Given the description of an element on the screen output the (x, y) to click on. 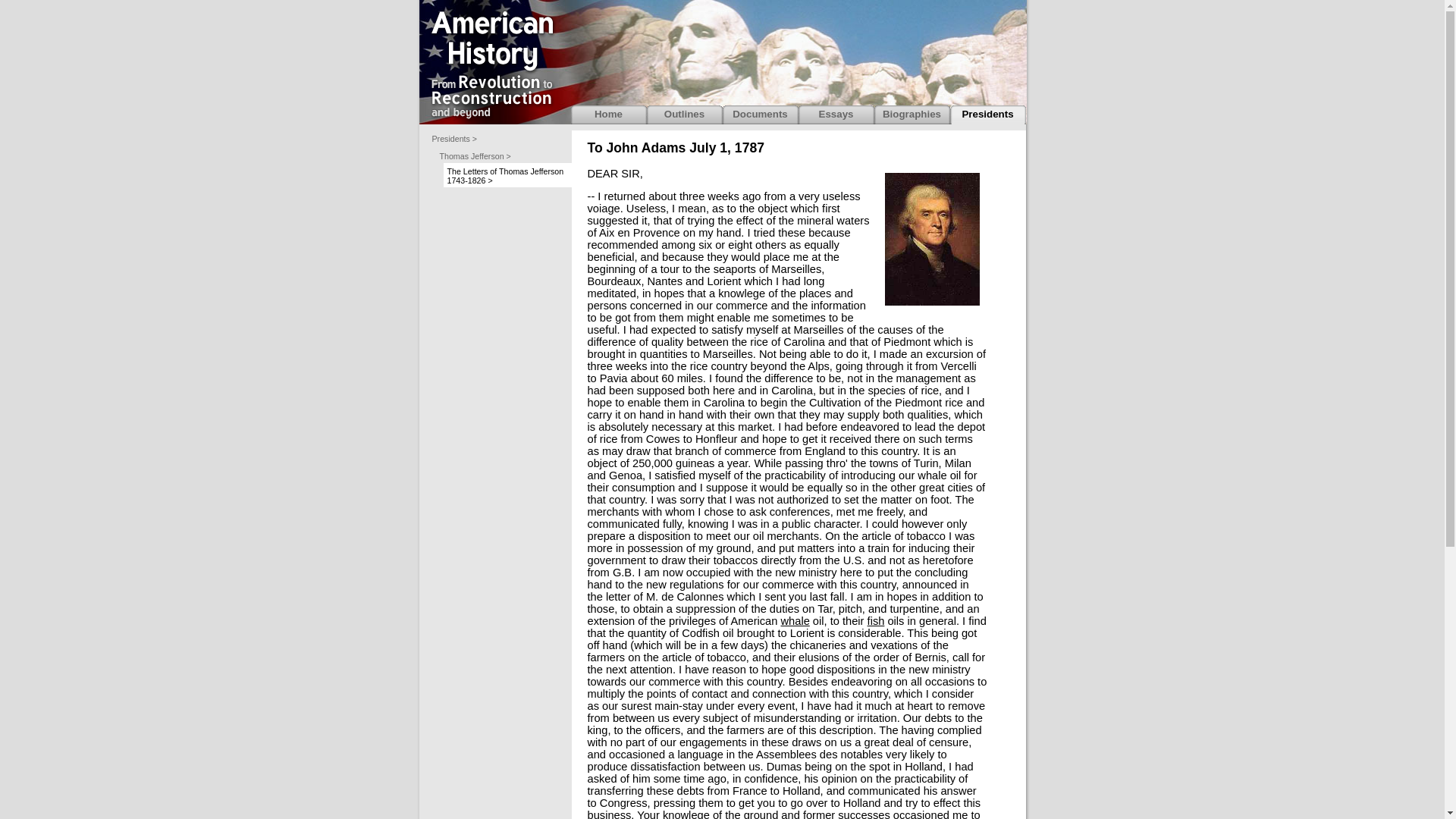
Outlines (684, 114)
Documents (759, 114)
Biographies (911, 114)
Presidents (987, 114)
Home (608, 114)
Essays (835, 114)
